Given the description of an element on the screen output the (x, y) to click on. 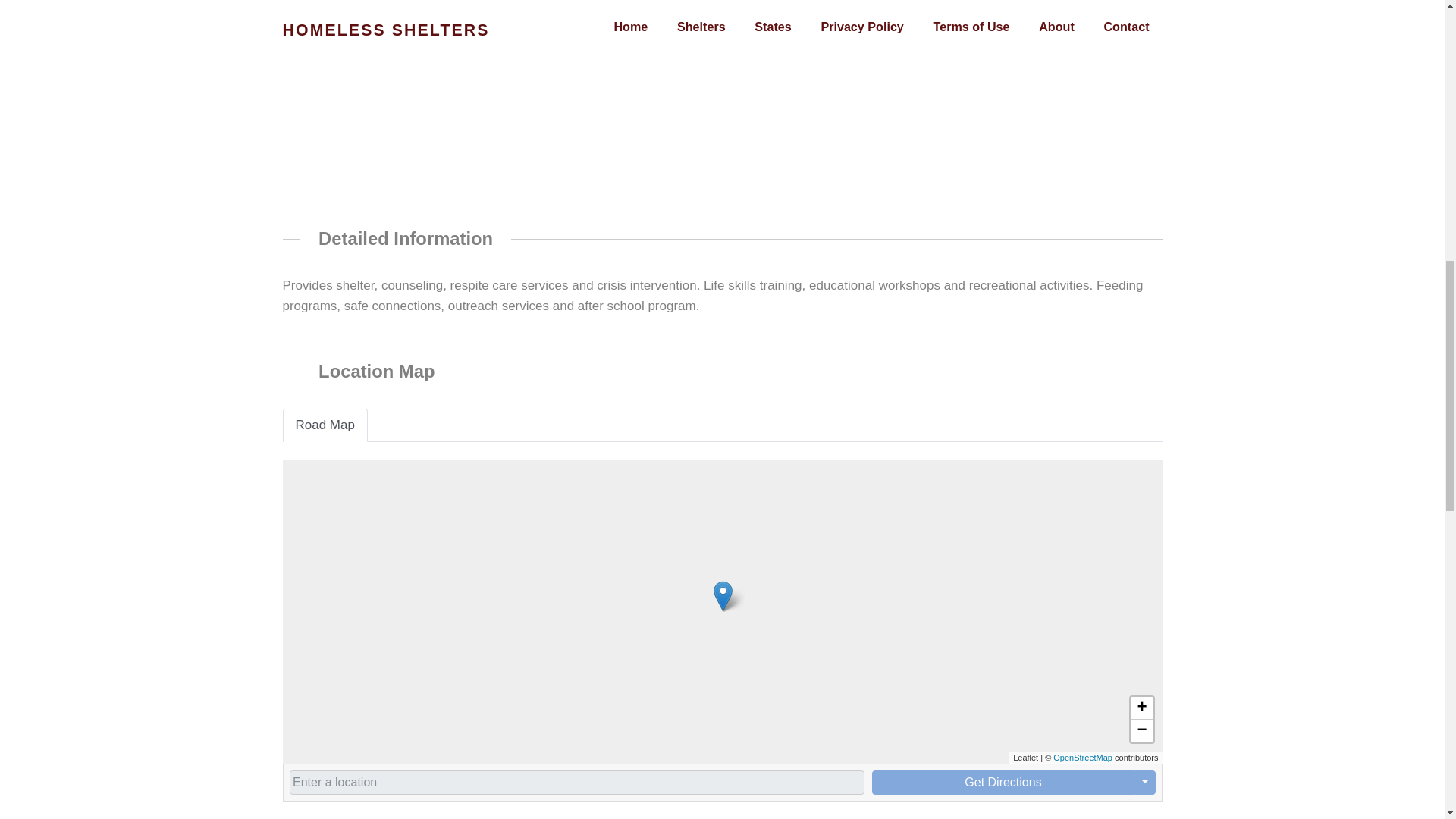
OpenStreetMap (1082, 757)
Zoom in (1141, 707)
Zoom out (1141, 730)
Get Directions (1003, 782)
Road Map (324, 425)
